Given the description of an element on the screen output the (x, y) to click on. 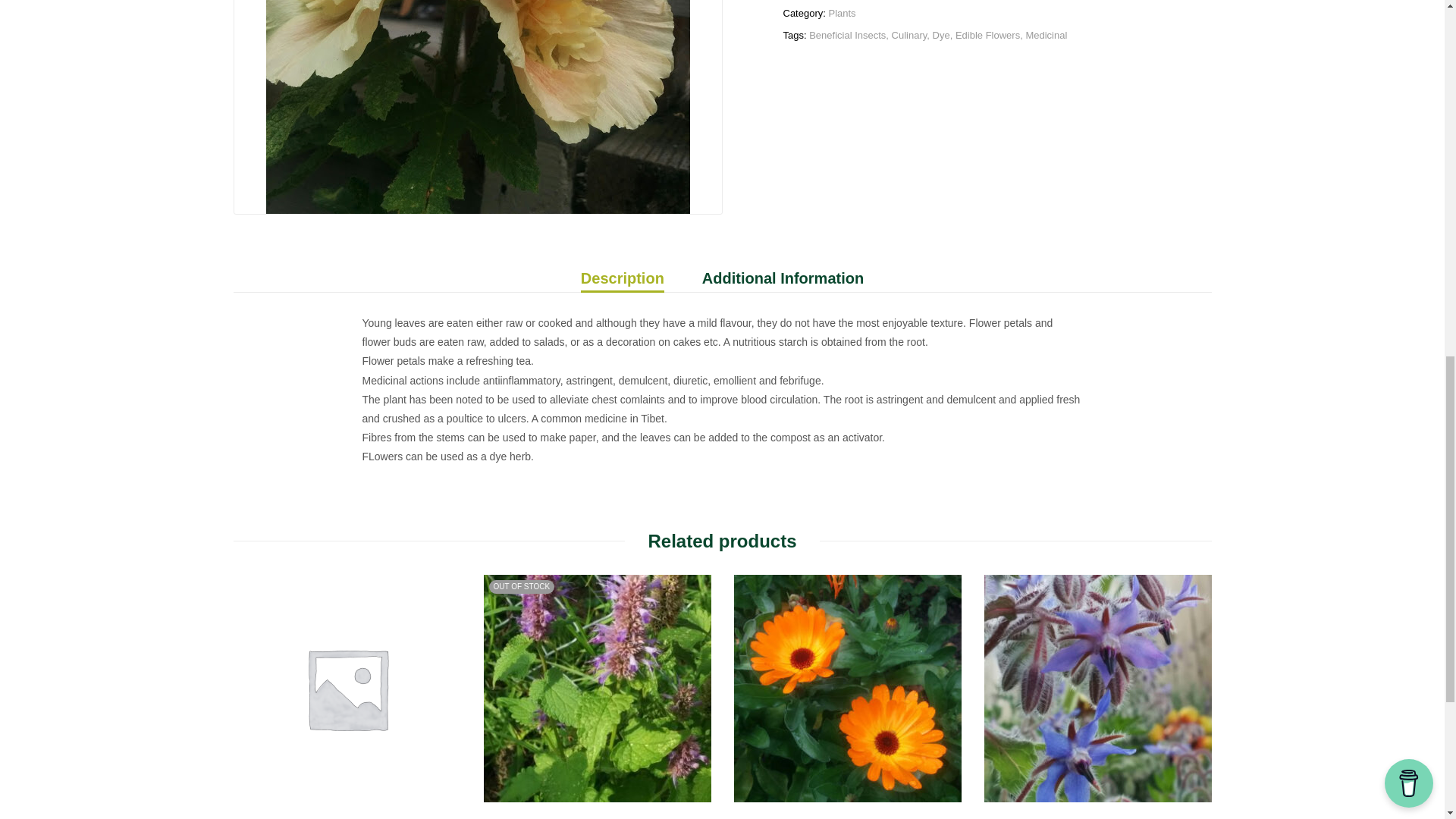
119 (476, 106)
